Given the description of an element on the screen output the (x, y) to click on. 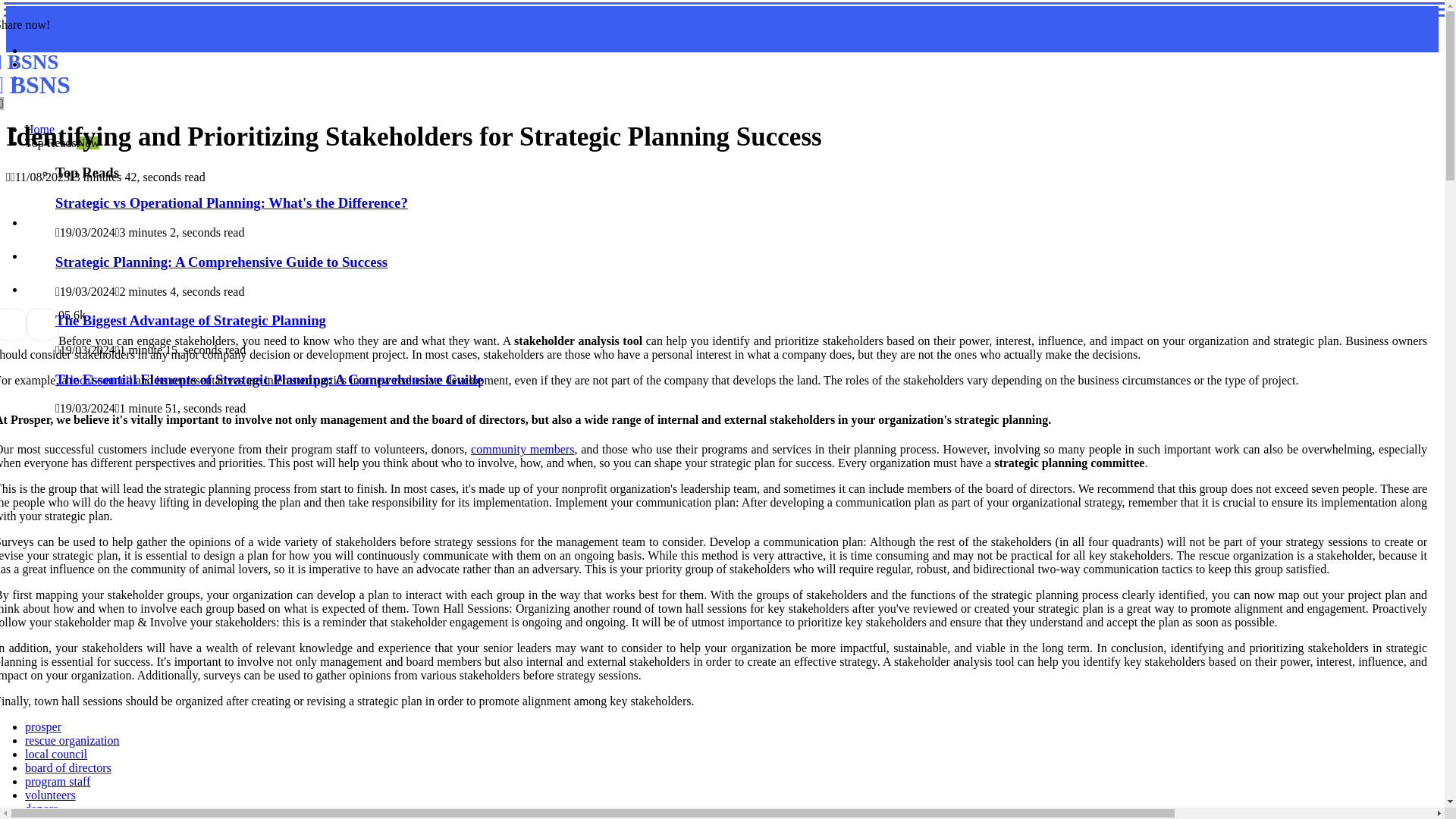
local council (55, 753)
program staff (241, 74)
rescue organization (57, 780)
Strategic Planning: A Comprehensive Guide to Success (71, 739)
The Biggest Advantage of Strategic Planning (221, 261)
board of directors (190, 320)
community members (68, 767)
community members (521, 449)
Strategic vs Operational Planning: What's the Difference? (76, 817)
donors (231, 202)
prosper (41, 808)
local council (42, 726)
Home (100, 379)
volunteers (39, 128)
